Given the description of an element on the screen output the (x, y) to click on. 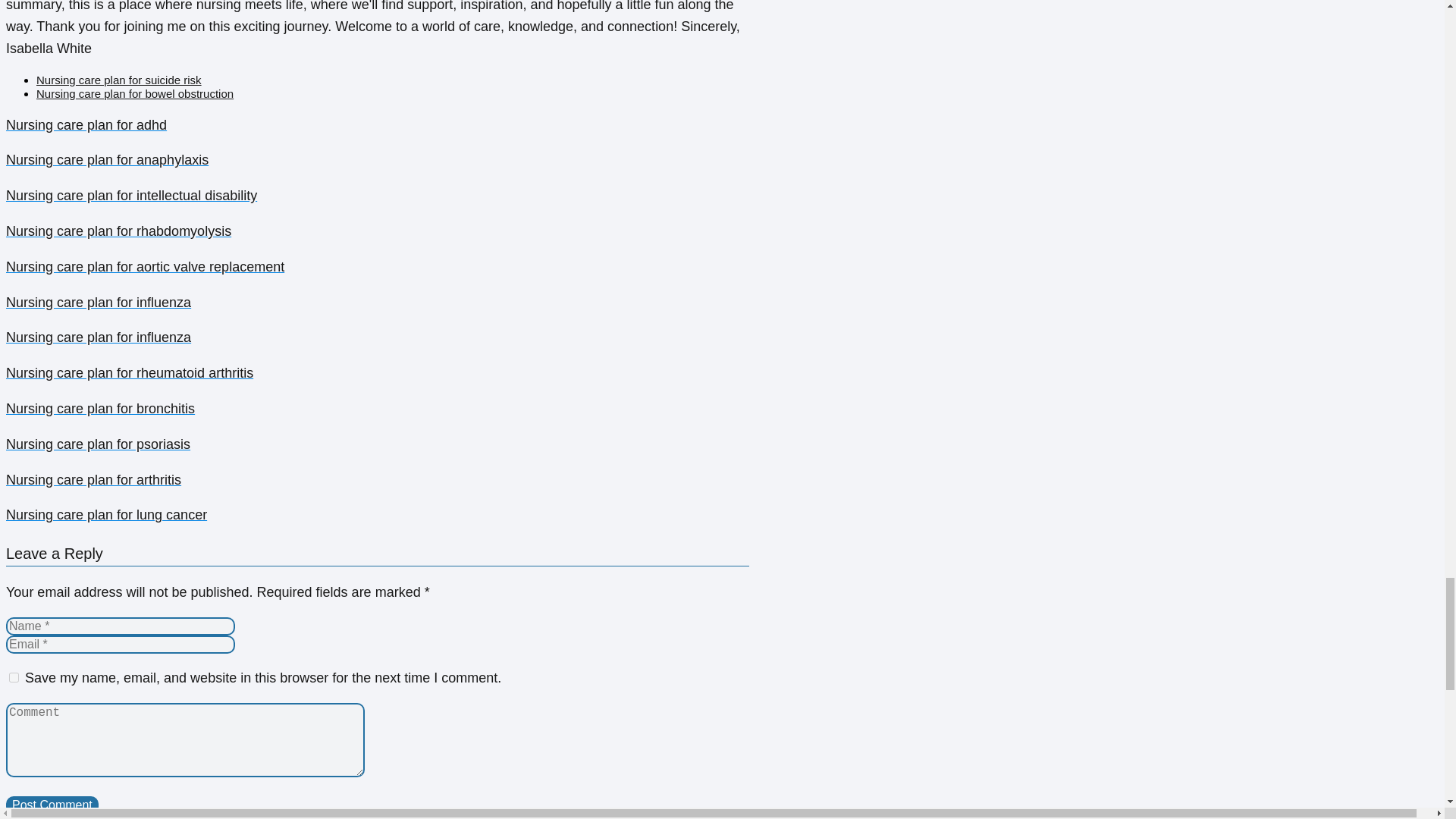
Nursing care plan for influenza (377, 337)
Nursing care plan for arthritis (377, 480)
Nursing care plan for adhd (377, 125)
Nursing care plan for influenza (377, 302)
Post Comment (52, 805)
Nursing care plan for rheumatoid arthritis (377, 373)
Nursing care plan for suicide risk (119, 79)
Nursing care plan for bowel obstruction (134, 92)
Post Comment (52, 805)
Nursing care plan for anaphylaxis (377, 160)
yes (13, 677)
Nursing care plan for psoriasis (377, 444)
Nursing care plan for aortic valve replacement (377, 267)
Nursing care plan for intellectual disability (377, 196)
Nursing care plan for rhabdomyolysis (377, 231)
